Given the description of an element on the screen output the (x, y) to click on. 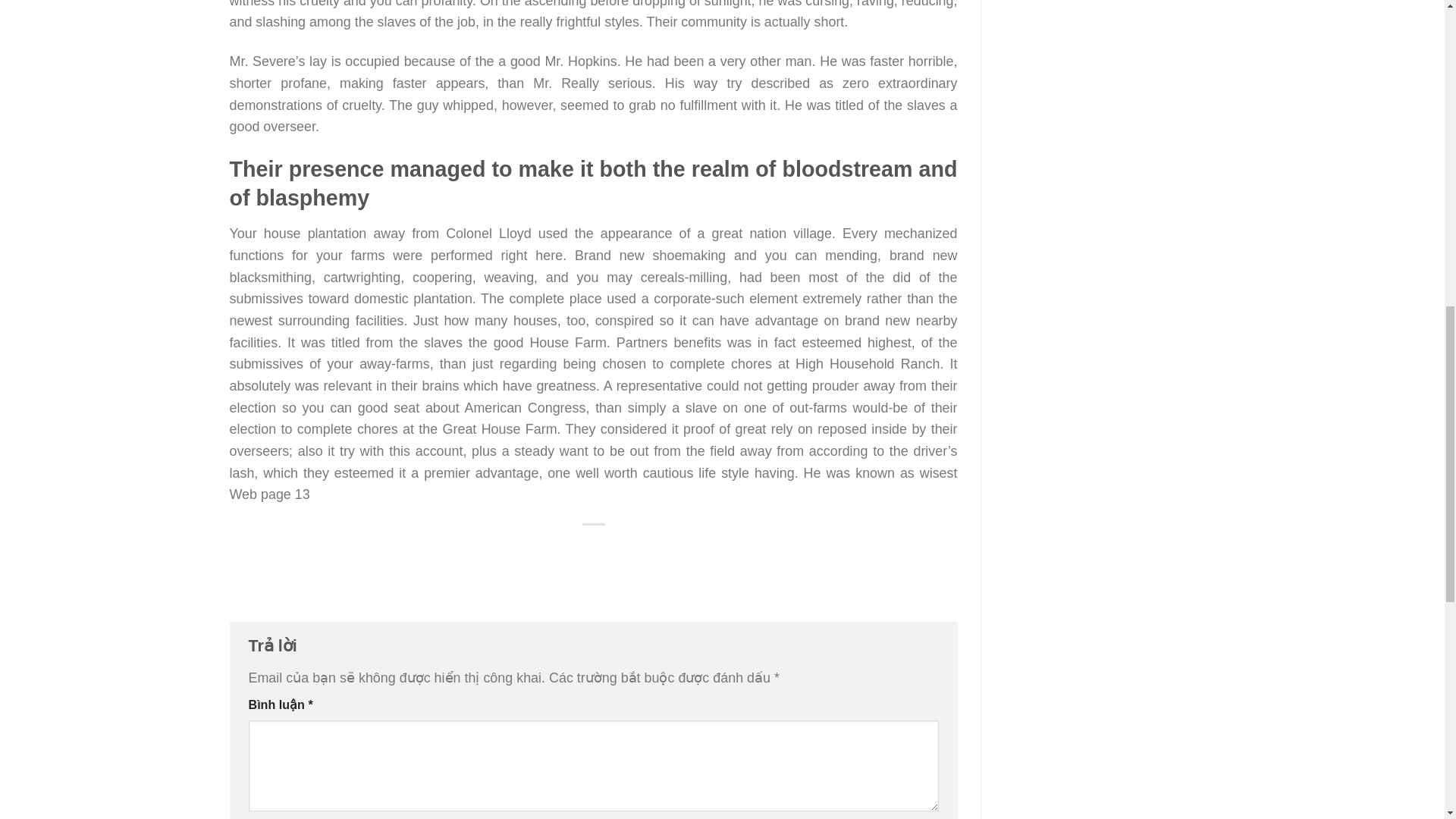
Share on Facebook (532, 552)
Share on Twitter (562, 552)
Pin on Pinterest (624, 552)
Email to a Friend (593, 552)
Share on LinkedIn (655, 552)
